Given the description of an element on the screen output the (x, y) to click on. 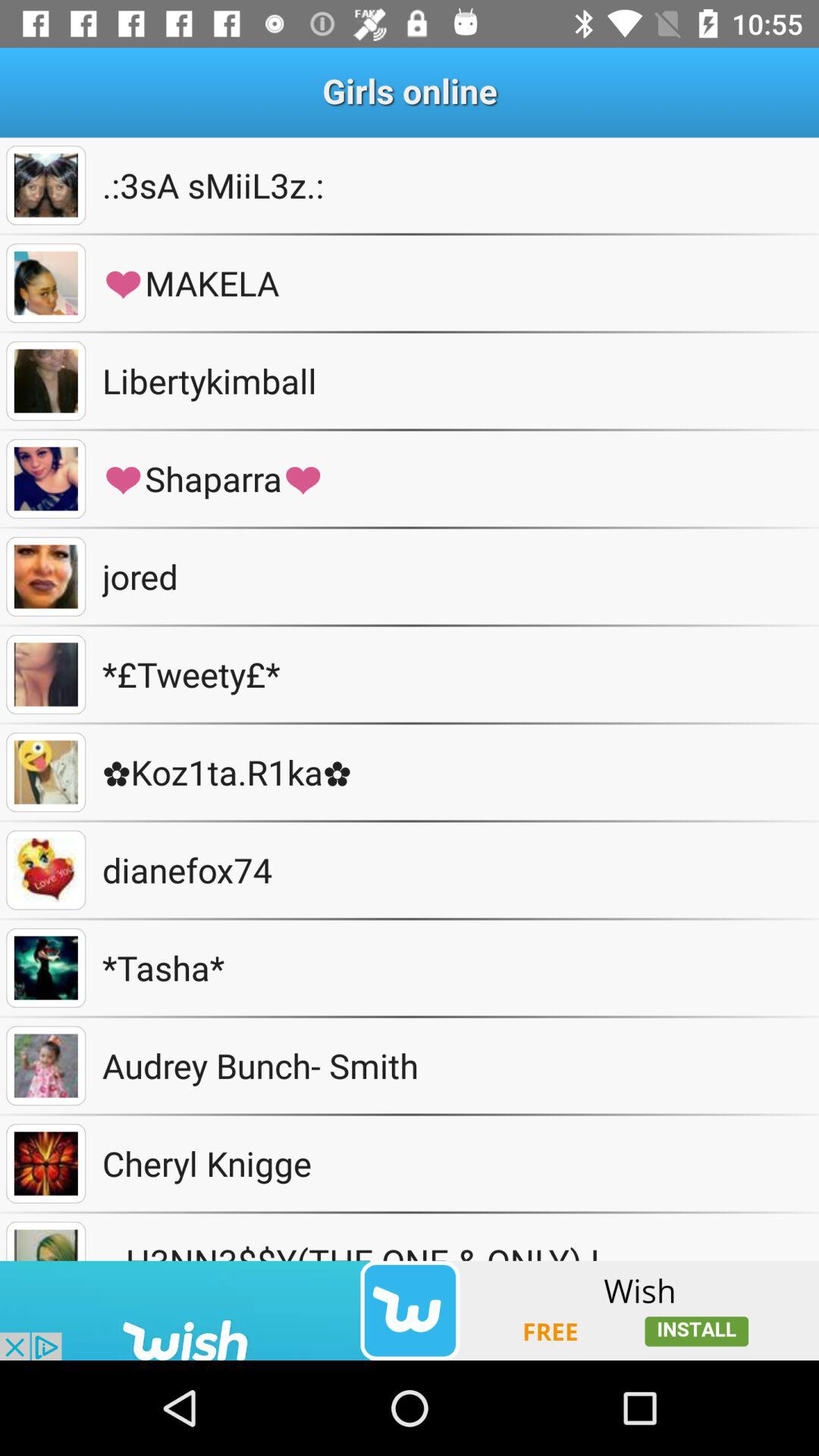
profile image (45, 380)
